Given the description of an element on the screen output the (x, y) to click on. 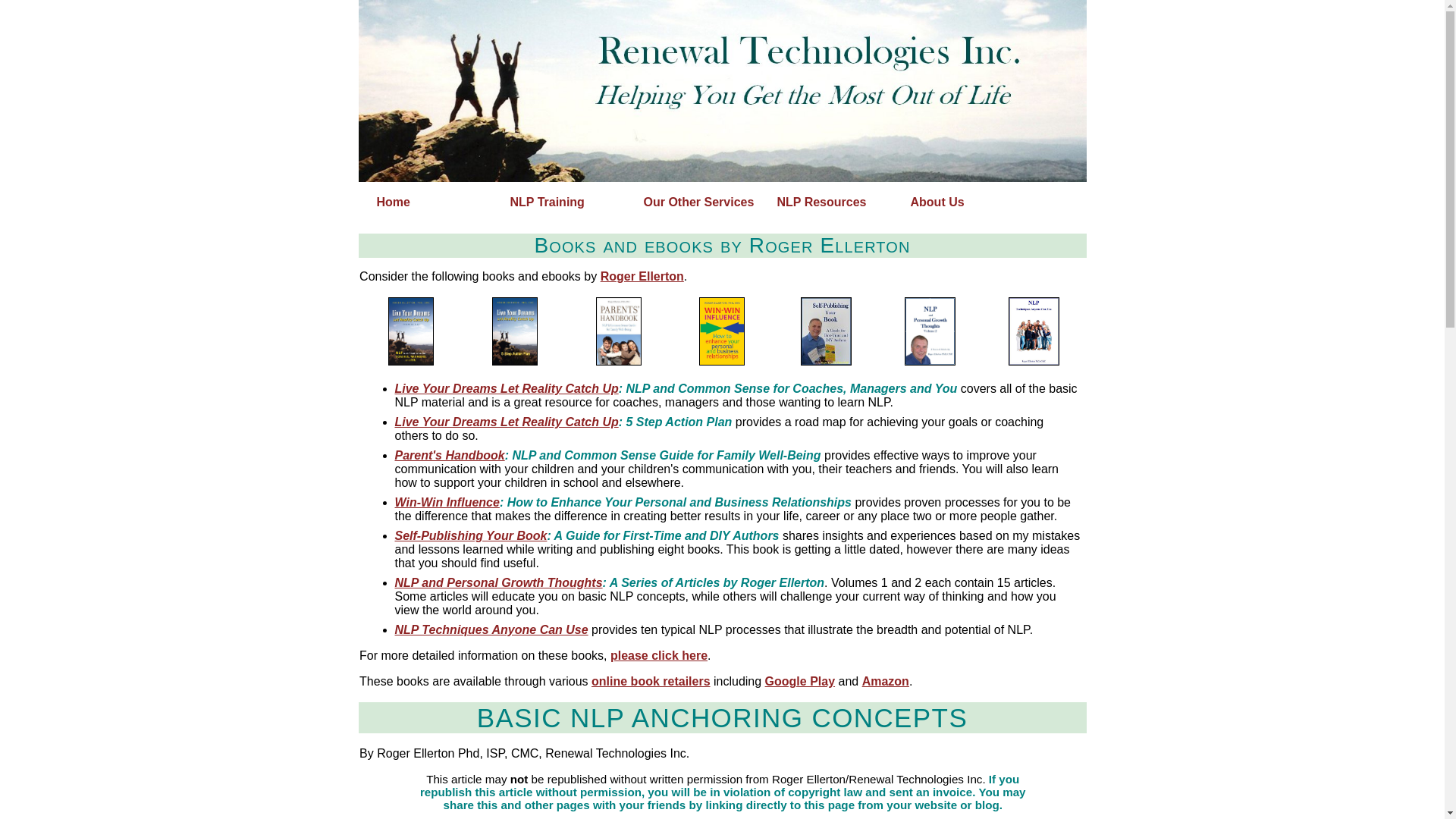
NLP Techniques Anyone Can Use (491, 629)
Best NLP book for beginners (410, 331)
Home (436, 202)
NLP book achieve your dreams (514, 331)
Self-Publishing Your Book (470, 535)
Best NLP book for parents and their kids (618, 331)
please click here (658, 655)
online book retailers (650, 680)
Live Your Dreams Let Reality Catch Up (505, 421)
Roger Ellerton (641, 276)
Live Your Dreams Let Reality Catch Up (505, 388)
NLP and Personal Growth Thoughts (498, 582)
Parent's Handbook (448, 454)
Win-Win Influence (446, 502)
